Given the description of an element on the screen output the (x, y) to click on. 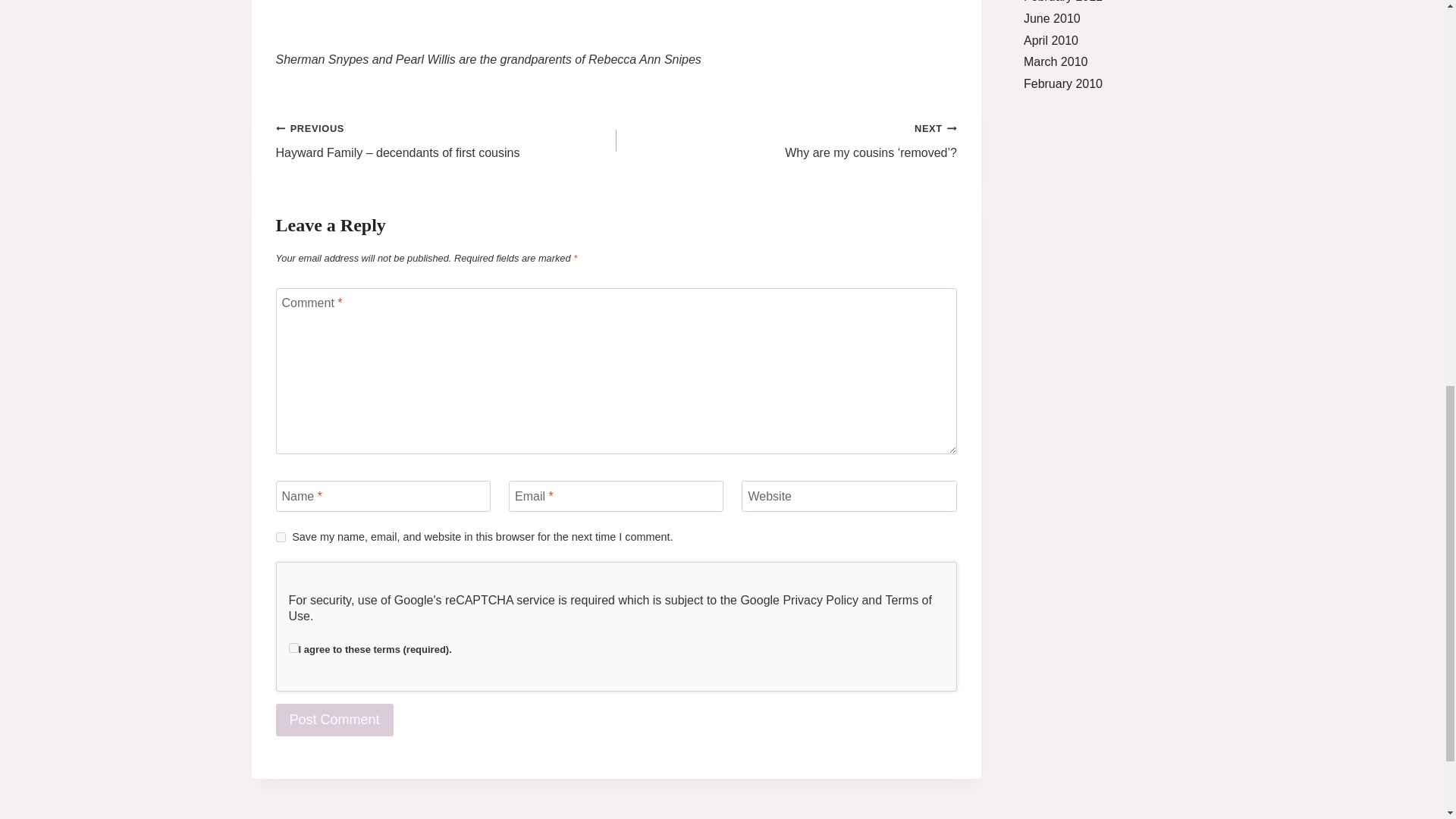
Post Comment (334, 719)
yes (280, 537)
June 2010 (1051, 18)
February 2011 (1062, 1)
Privacy Policy (821, 599)
March 2010 (1055, 61)
Post Comment (334, 719)
Terms of Use (609, 607)
on (293, 647)
February 2010 (1062, 83)
April 2010 (1050, 40)
